Given the description of an element on the screen output the (x, y) to click on. 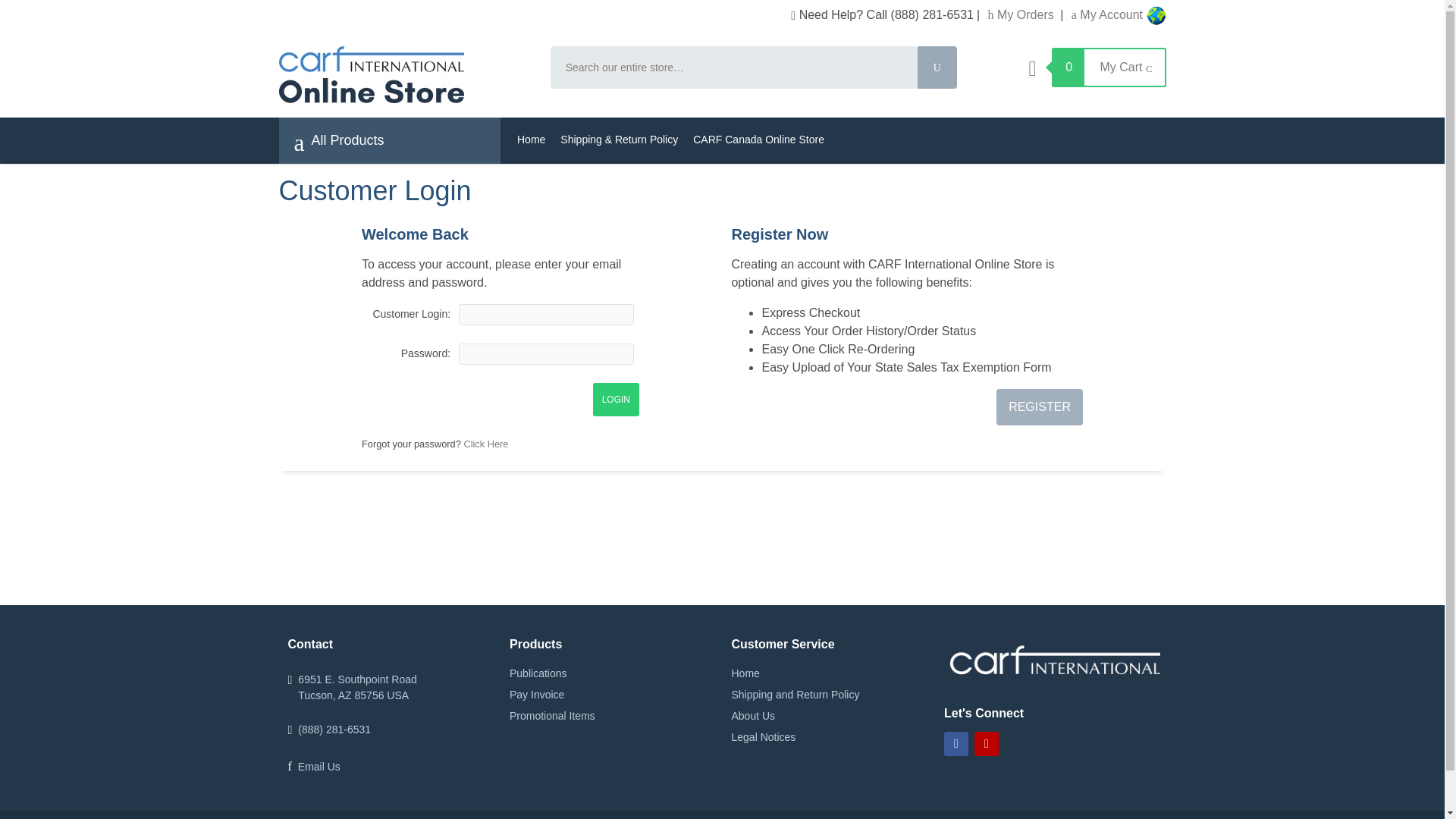
Click Here (485, 443)
Search (936, 66)
All Products (339, 140)
My Account (1106, 14)
Home (531, 139)
Search (936, 66)
CARF Canada Online Store (758, 139)
CARF International logo (1054, 661)
YouTube (986, 743)
My Orders (1023, 14)
REGISTER (1039, 407)
CARF International online store (405, 74)
Login (615, 399)
Facebook (955, 743)
0 My Cart (1096, 66)
